Given the description of an element on the screen output the (x, y) to click on. 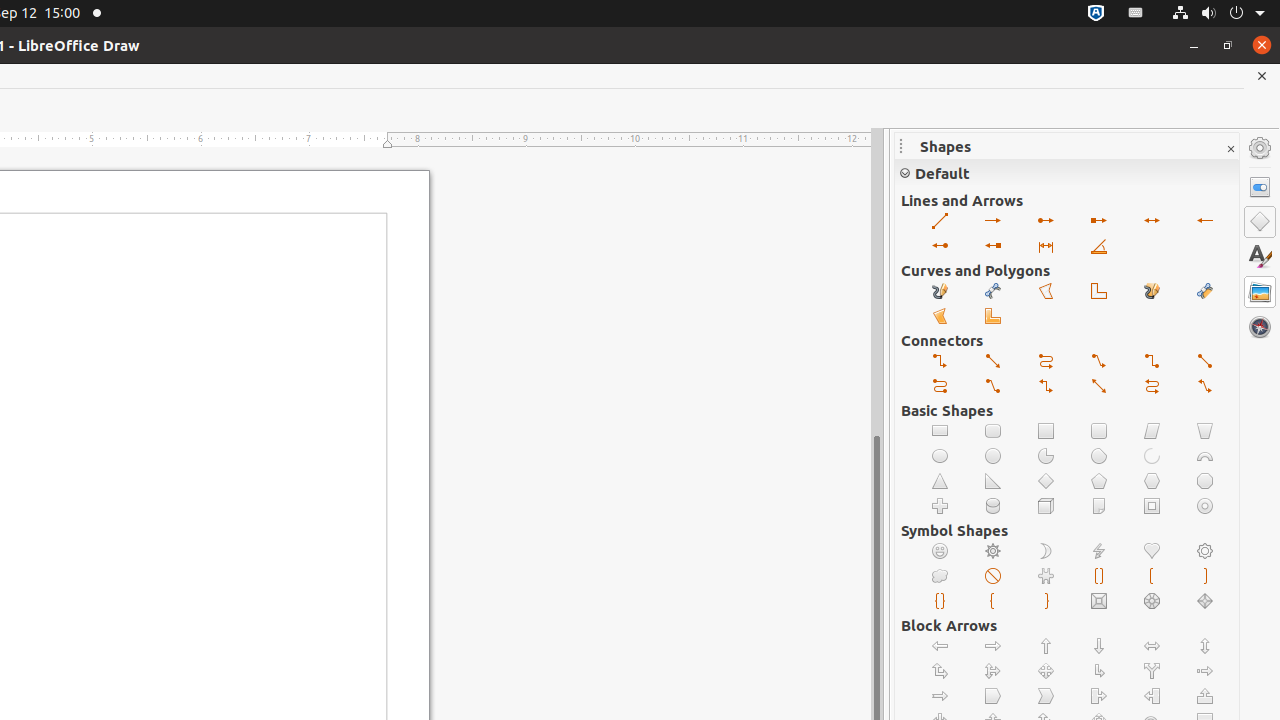
Up Arrow Element type: list-item (1046, 646)
Flower Element type: list-item (1205, 551)
Diamond Bevel Element type: list-item (1205, 601)
Down Arrow Element type: list-item (1099, 646)
Circle Pie Element type: list-item (1046, 456)
